Given the description of an element on the screen output the (x, y) to click on. 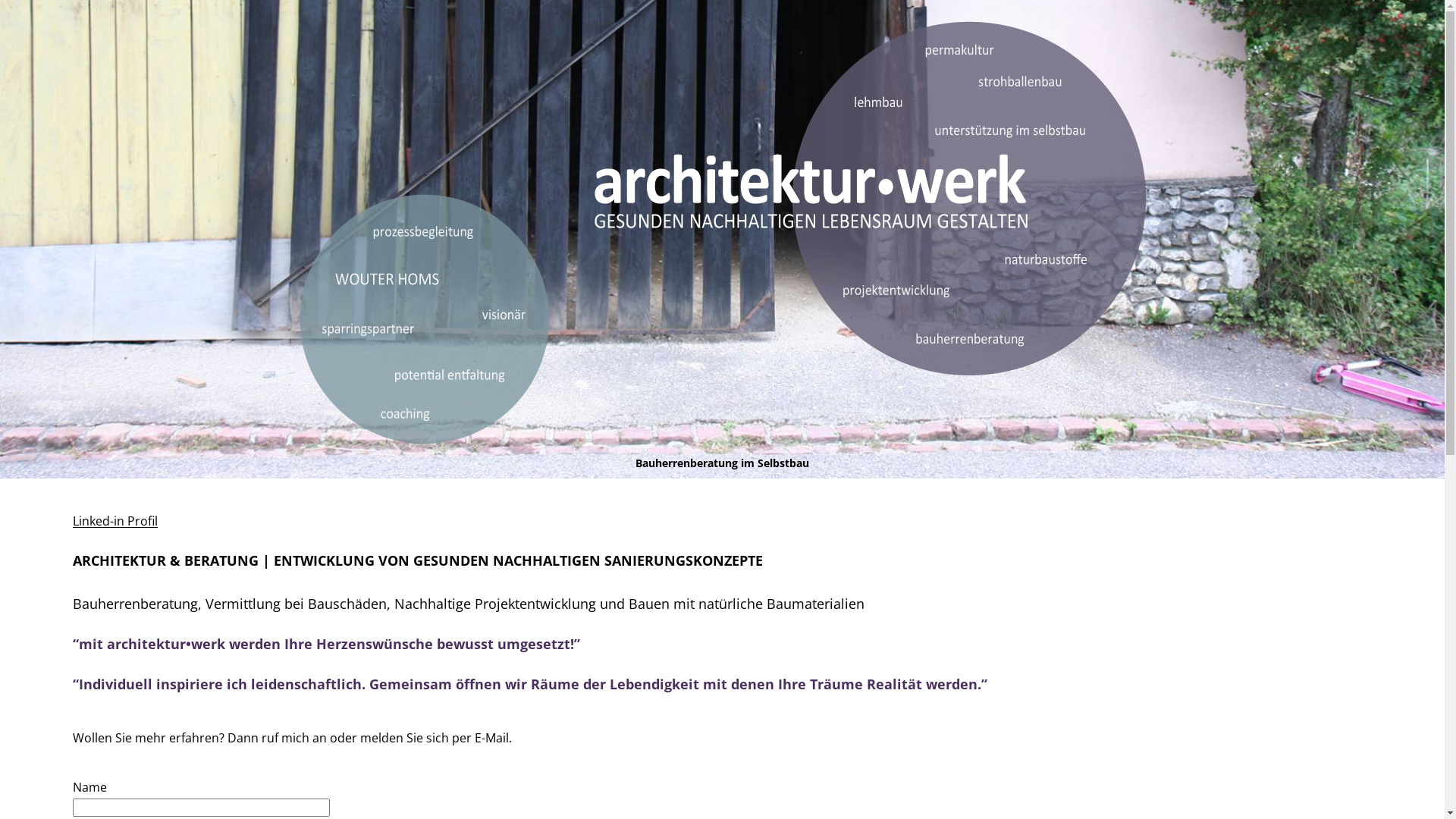
Linked-in Profil Element type: text (114, 520)
